Given the description of an element on the screen output the (x, y) to click on. 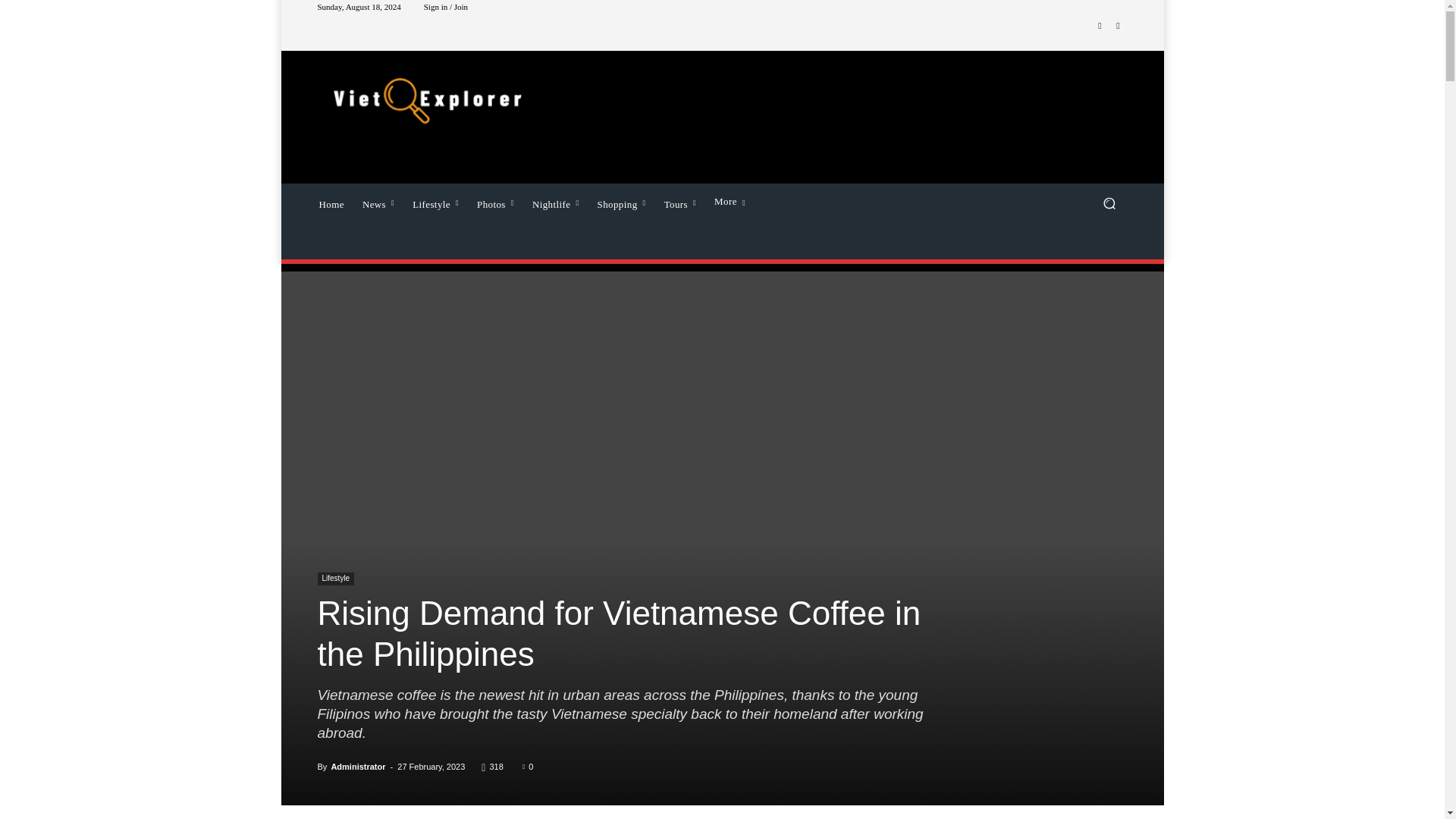
News (378, 202)
Twitter (1117, 25)
Lifestyle (435, 202)
Facebook (1099, 25)
Home (330, 202)
